Given the description of an element on the screen output the (x, y) to click on. 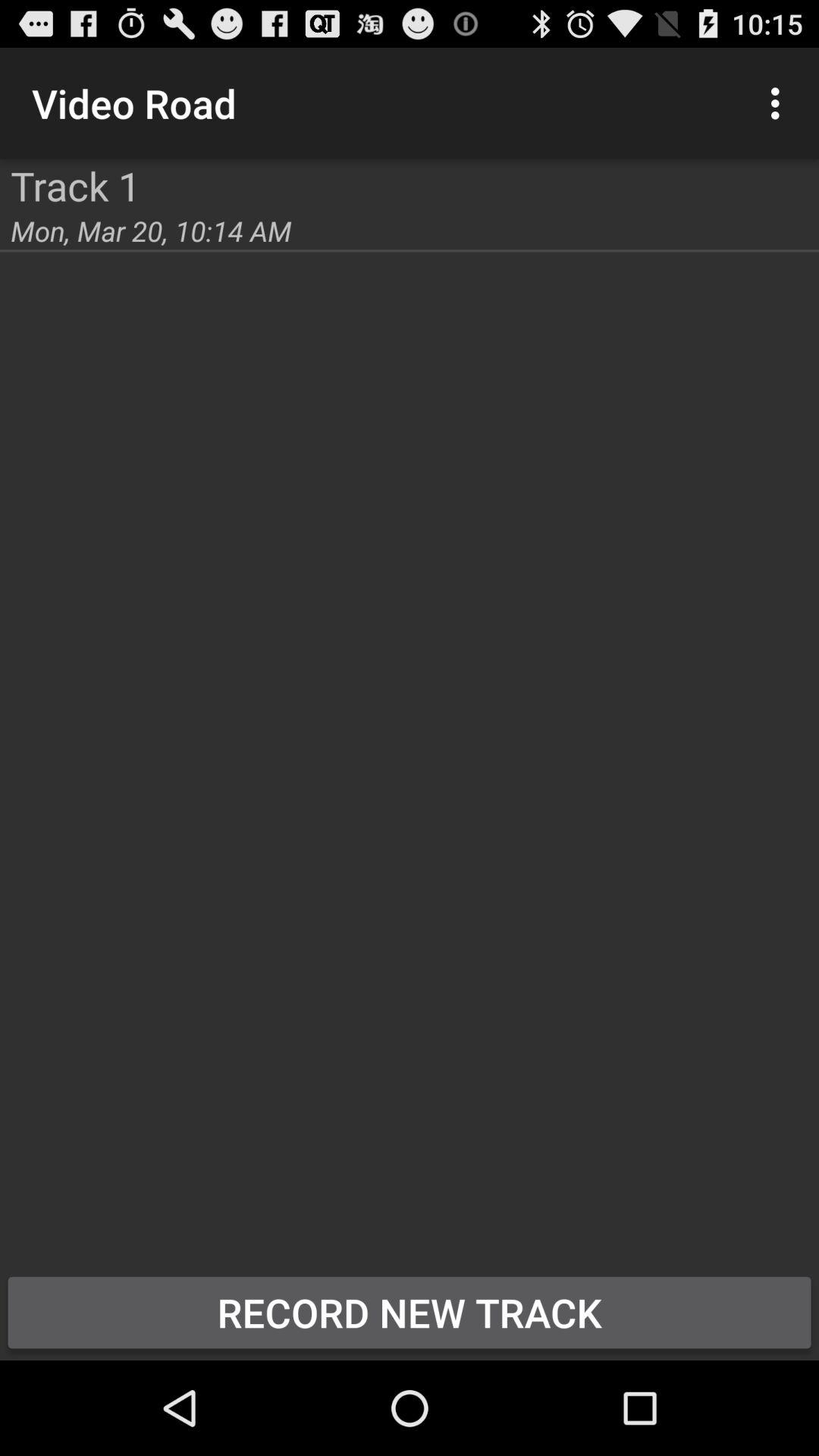
jump until mon mar 20 item (150, 230)
